Given the description of an element on the screen output the (x, y) to click on. 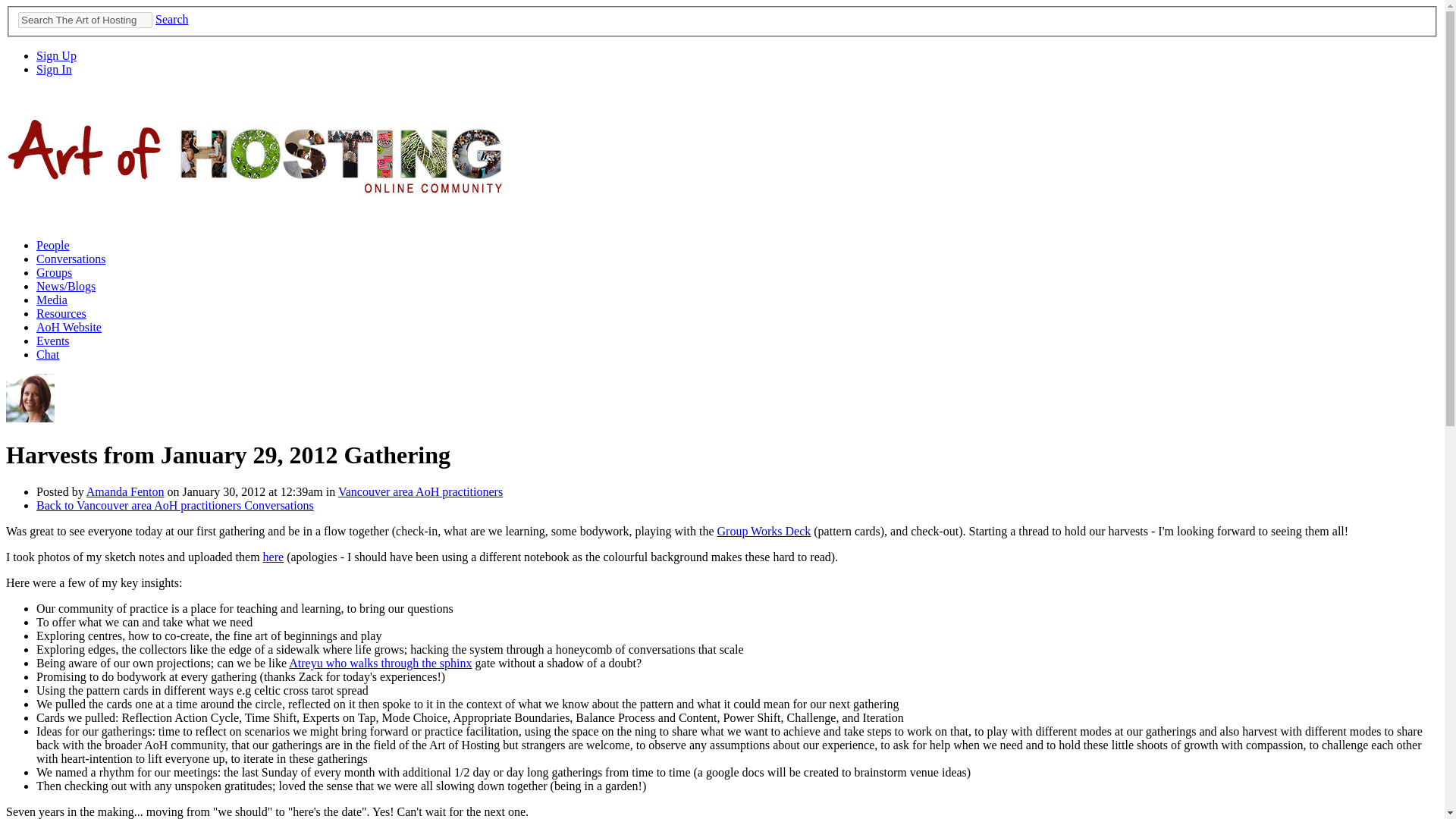
Sign Up (56, 55)
Search The Art of Hosting (84, 19)
Groups (53, 272)
Amanda Fenton (124, 491)
Search The Art of Hosting (84, 19)
Posted by (60, 491)
Sign In (53, 69)
Events (52, 340)
Group Works Deck (763, 530)
Conversations (71, 258)
People (52, 245)
Amanda Fenton (30, 418)
AoH Website (68, 327)
Vancouver area AoH practitioners (419, 491)
on January 30, 2012 at 12:39am in (250, 491)
